Given the description of an element on the screen output the (x, y) to click on. 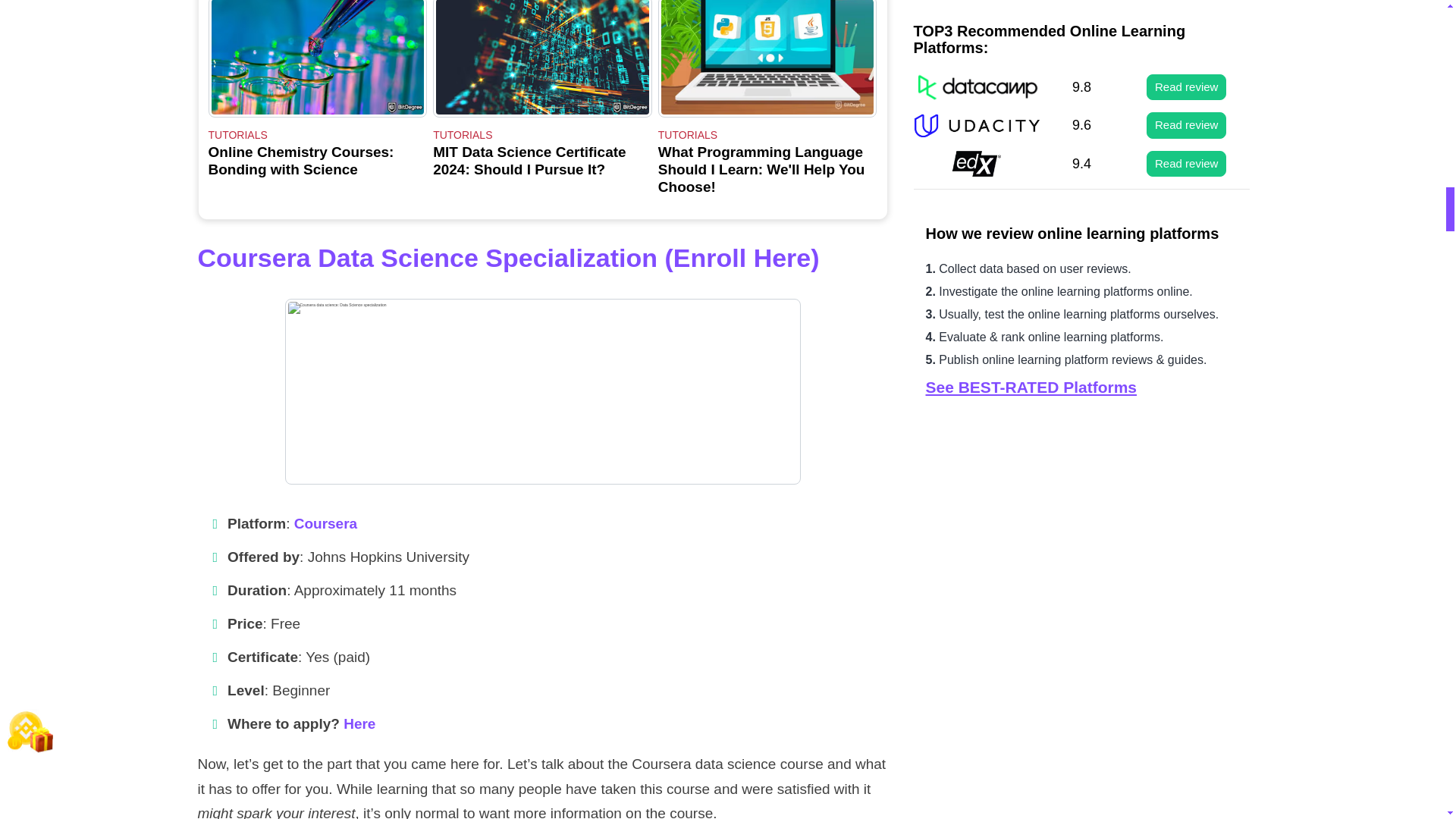
MIT Data Science Certificate 2024: Should I Pursue It? (542, 58)
Online Chemistry Courses: Bonding with Science (317, 58)
Coursera data science: Data Science specialization (317, 97)
